Given the description of an element on the screen output the (x, y) to click on. 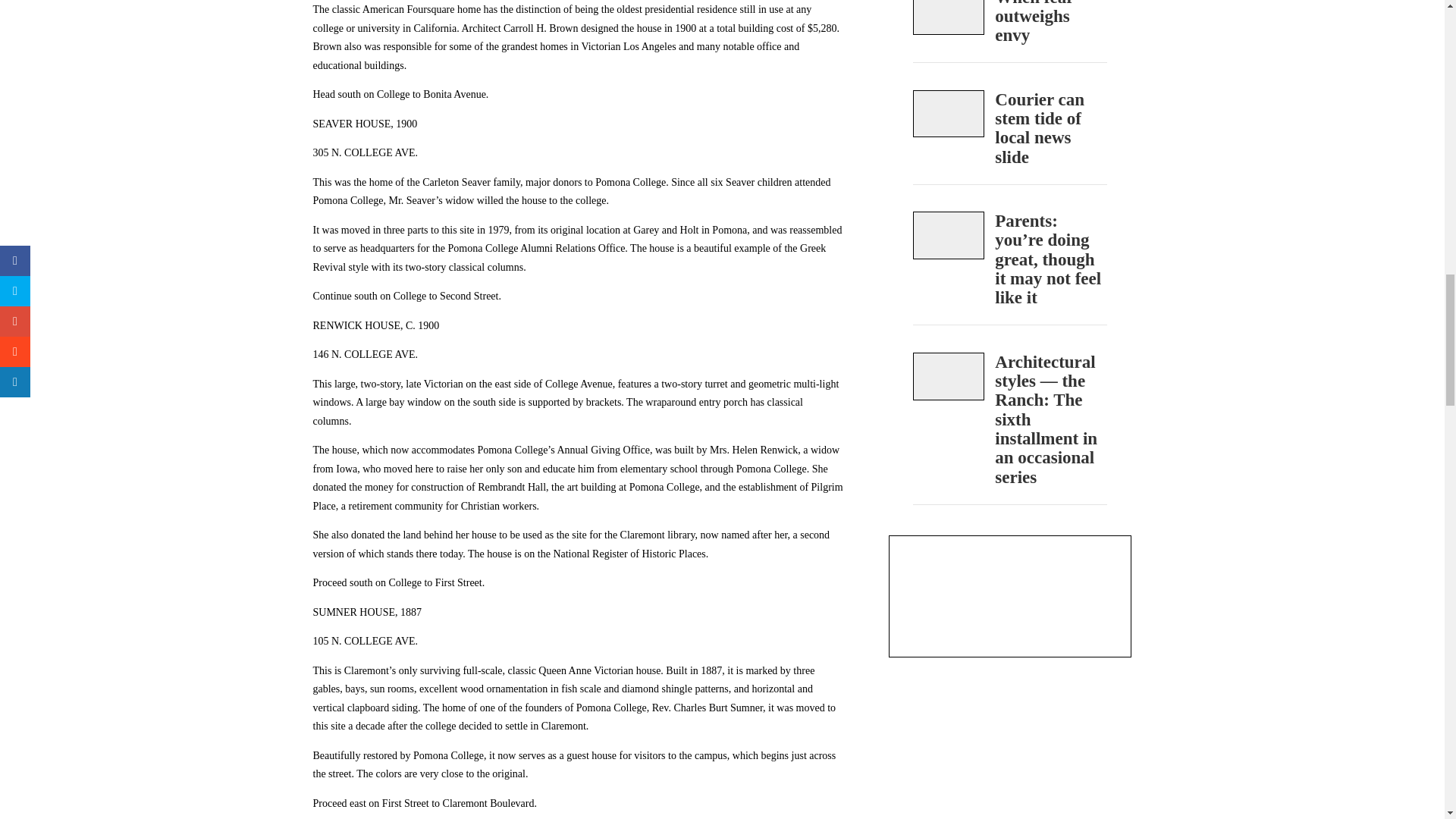
Mick-web-Layout (949, 235)
Peter-web-Layout 1 (949, 113)
ranch facade 5 WEB (949, 375)
When fear outweighs envy (1050, 27)
